Given the description of an element on the screen output the (x, y) to click on. 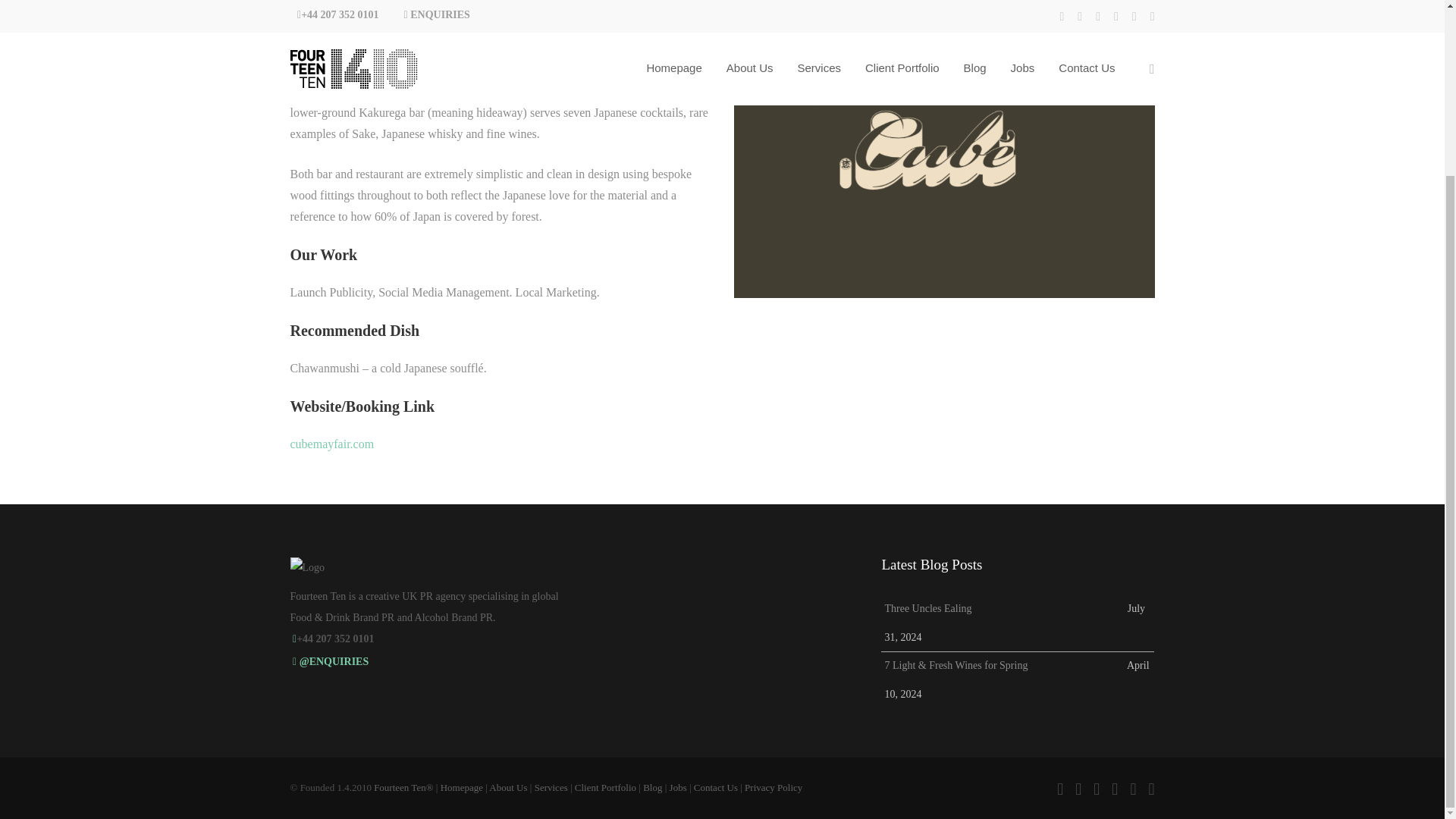
cubemayfair.com (331, 443)
Cube Restaurant Logo (943, 150)
About Us (508, 787)
Three Uncles Ealing (1003, 612)
Homepage (462, 787)
